Given the description of an element on the screen output the (x, y) to click on. 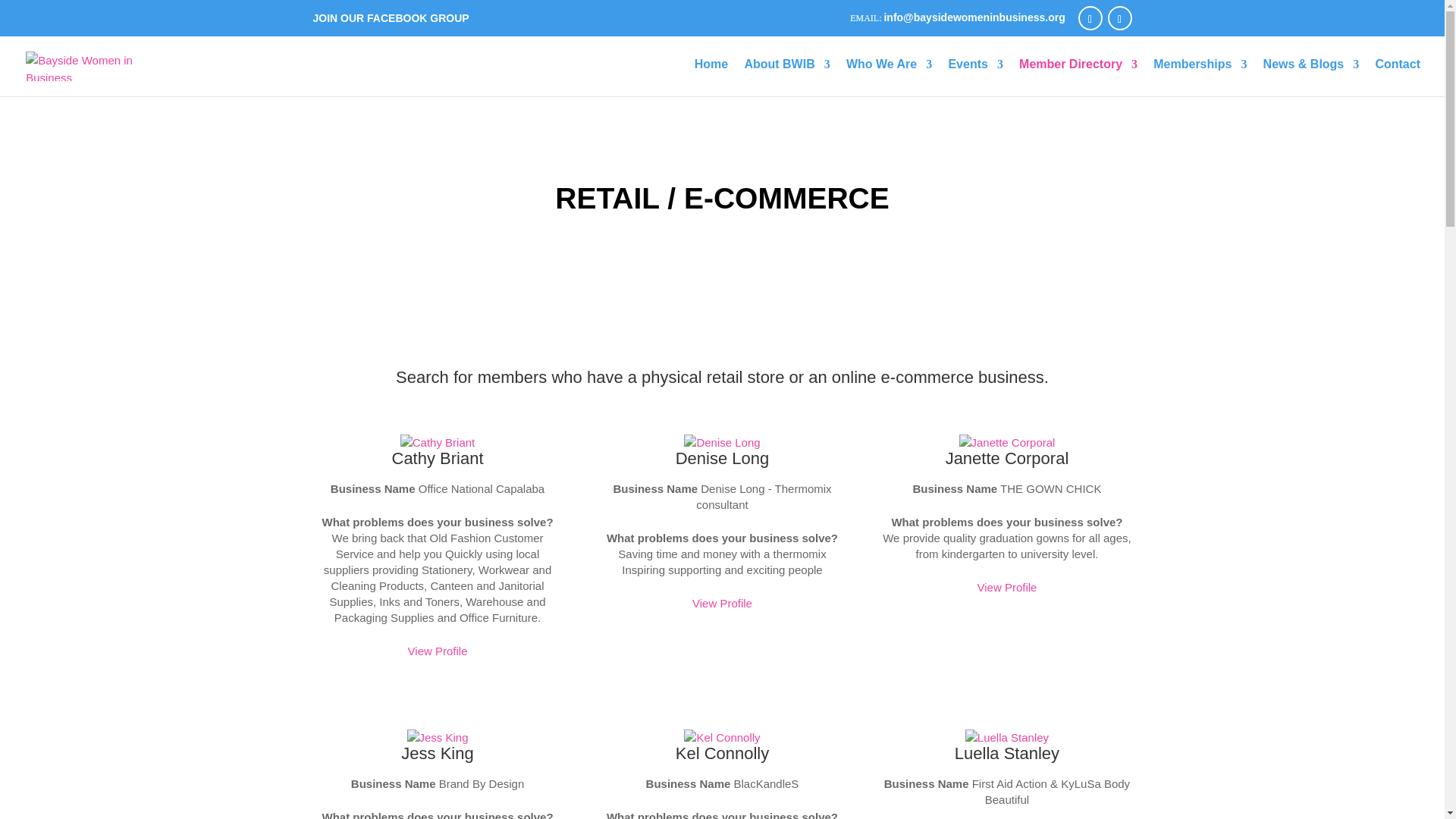
JOIN OUR FACEBOOK GROUP (390, 18)
About BWIB (786, 77)
Events (975, 77)
Member Directory (1078, 77)
Who We Are (888, 77)
Home (711, 77)
